Given the description of an element on the screen output the (x, y) to click on. 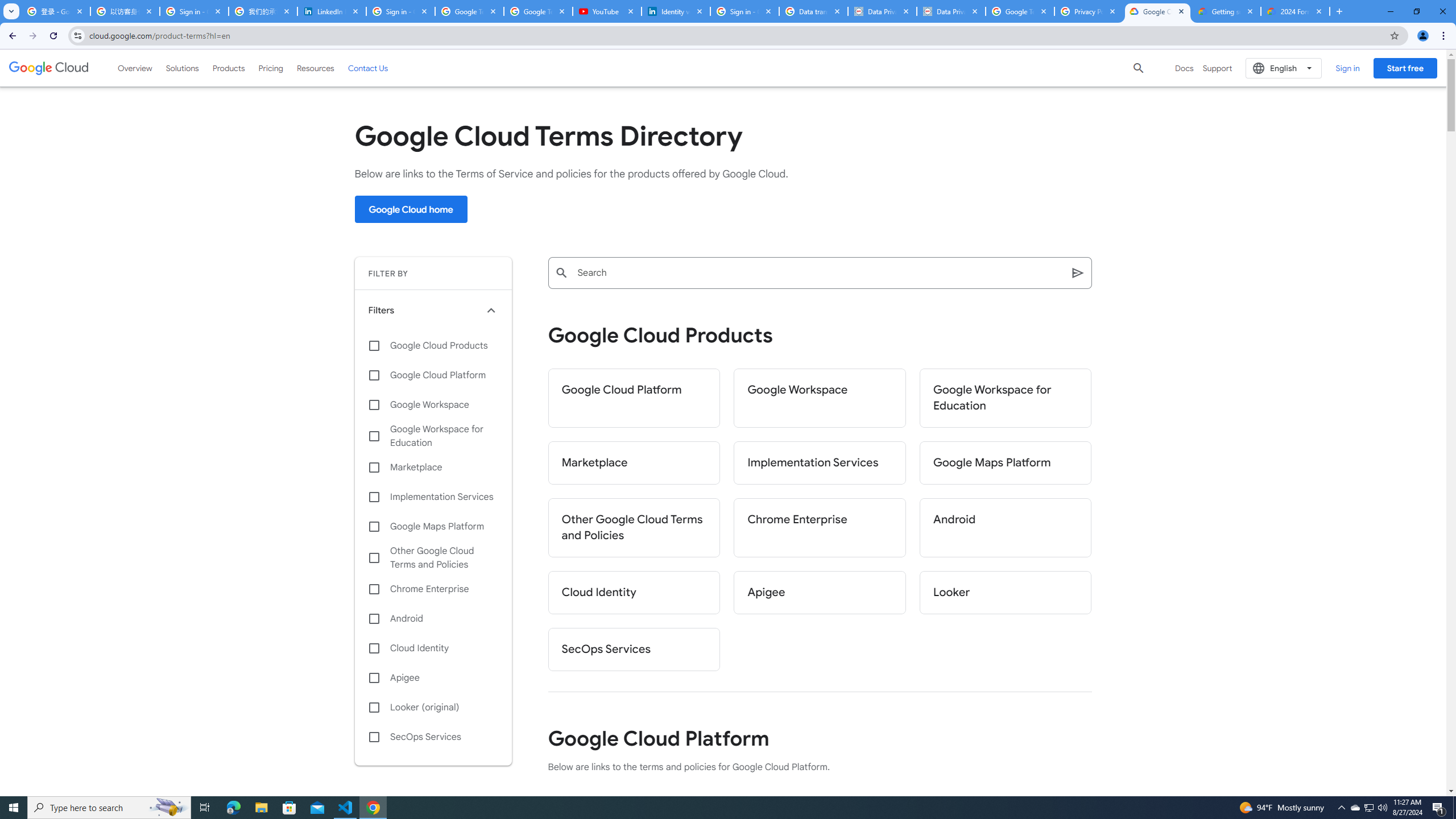
Search (1078, 272)
Looker (original) (432, 707)
Cloud Identity (432, 648)
Other Google Cloud Terms and Policies (633, 527)
Restore (1416, 11)
Google Cloud (48, 67)
Marketplace (633, 462)
Google Cloud Terms Directory | Google Cloud (1157, 11)
View site information (77, 35)
Google Cloud Platform (633, 397)
Google Cloud Products (432, 345)
Data Privacy Framework (950, 11)
